Given the description of an element on the screen output the (x, y) to click on. 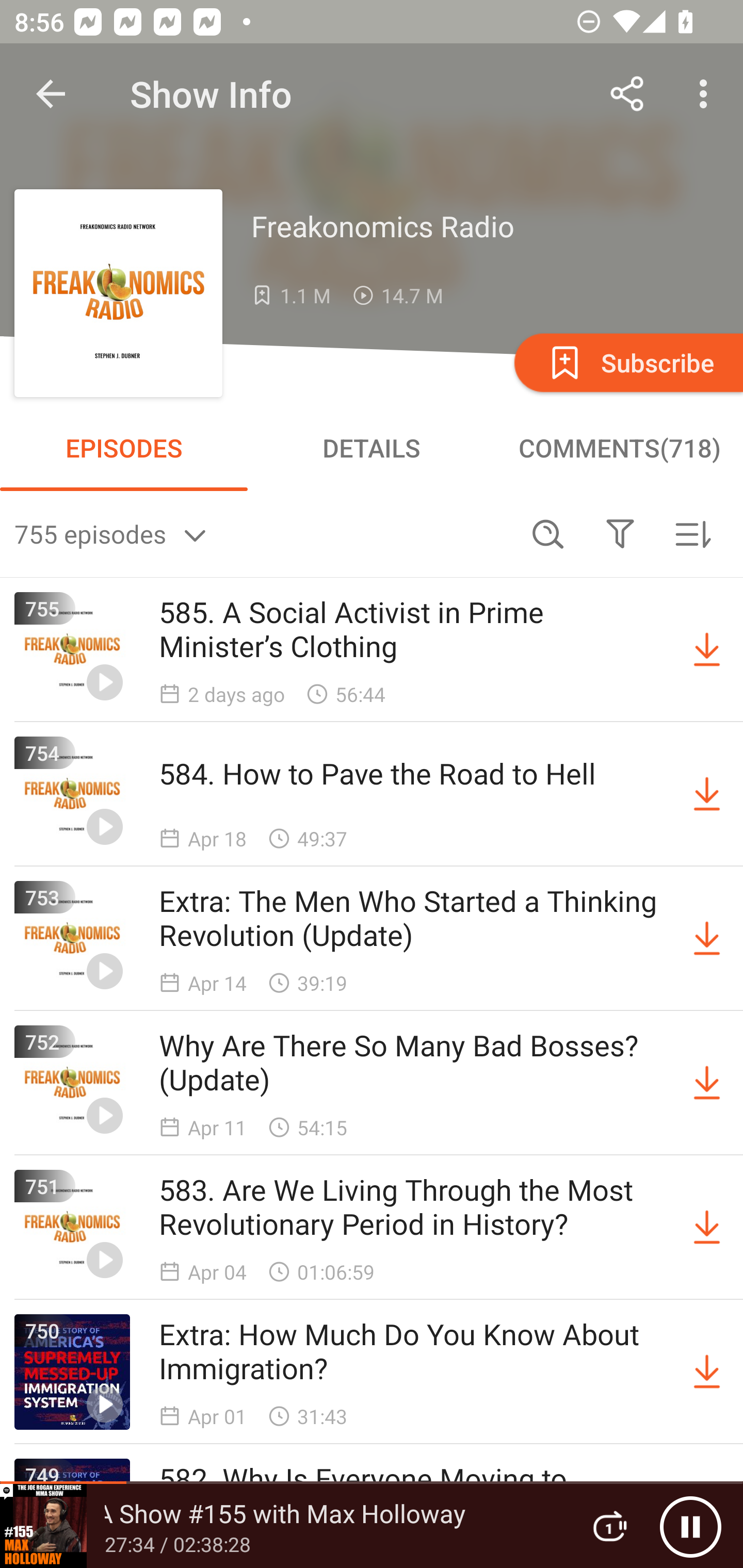
Navigate up (50, 93)
Share (626, 93)
More options (706, 93)
Subscribe (627, 361)
EPISODES (123, 447)
DETAILS (371, 447)
COMMENTS(718) (619, 447)
755 episodes  (262, 533)
 Search (547, 533)
 (619, 533)
 Sorted by newest first (692, 533)
Download (706, 649)
Download (706, 793)
Download (706, 939)
Download (706, 1083)
Download (706, 1227)
Download (706, 1371)
Pause (690, 1526)
